Given the description of an element on the screen output the (x, y) to click on. 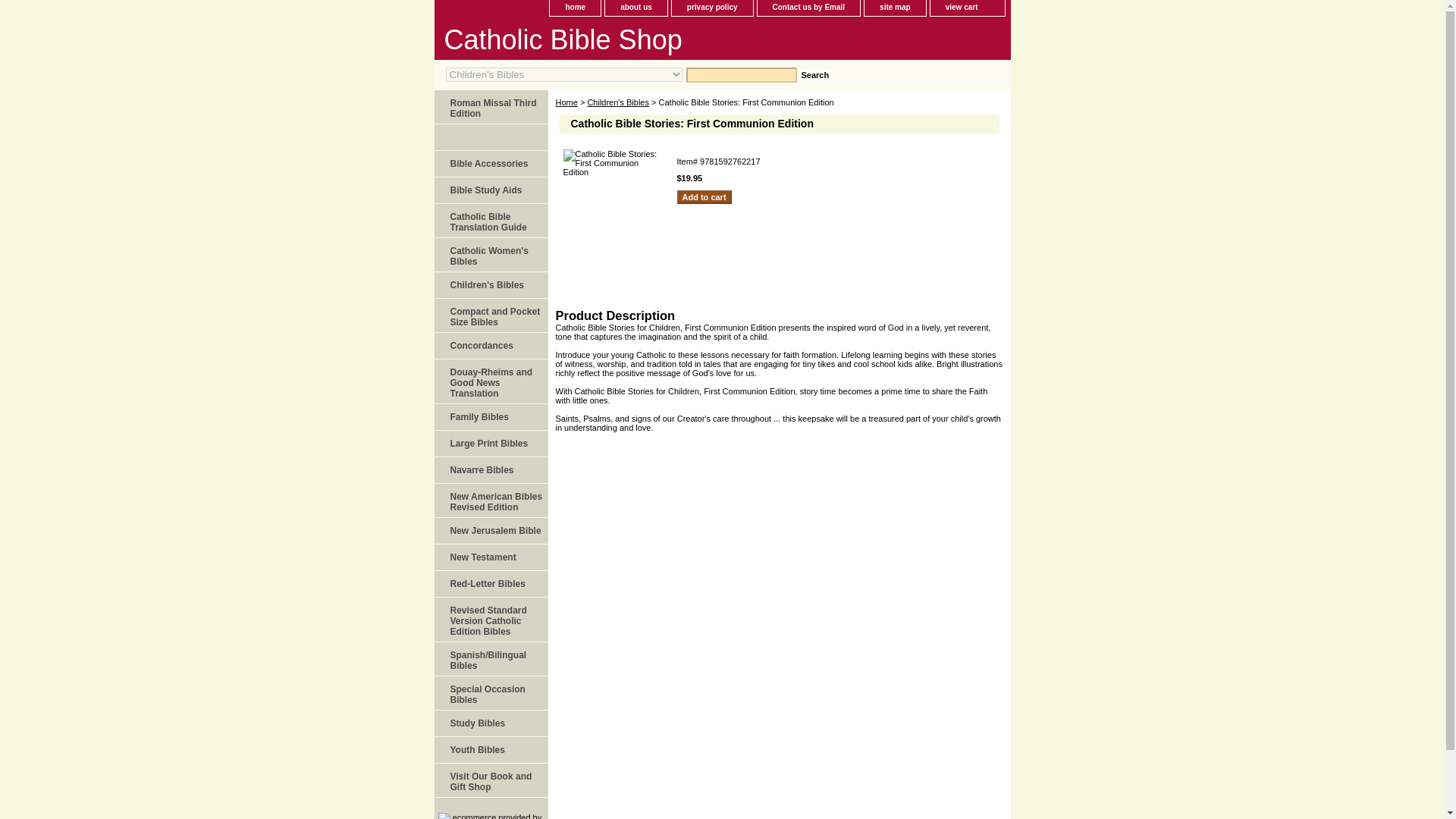
New Testament (490, 557)
Contact us by Email (808, 7)
Catholic Women's Bibles (490, 254)
Catholic Bible Translation Guide (490, 220)
Compact and Pocket Size Bibles (490, 315)
about us (635, 7)
home (574, 7)
Concordances (490, 345)
New Jerusalem Bible (490, 530)
Revised Standard Version Catholic Edition Bibles (490, 619)
Study Bibles (490, 723)
New Jerusalem Bible (490, 530)
Douay-Rheims and Good News Translation (490, 381)
Large Print Bibles (490, 443)
Bible Accessories (490, 163)
